Given the description of an element on the screen output the (x, y) to click on. 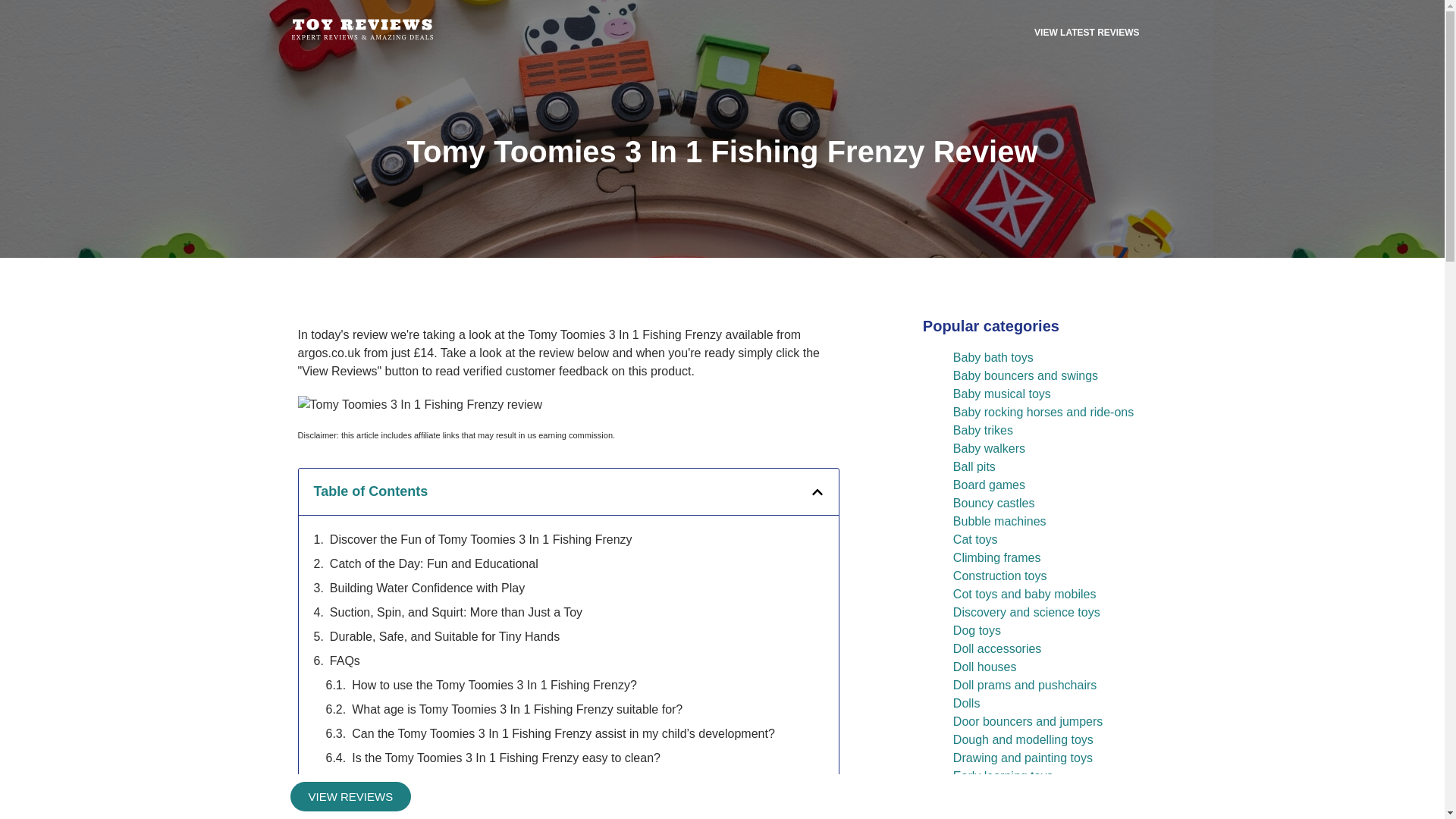
Catch of the Day: Fun and Educational (434, 564)
Other reviews you may be interested in (457, 806)
Ball pits (974, 466)
Where can I buy the Tomy Toomies 3 In 1 Fishing Frenzy? (507, 782)
Discover the Fun of Tomy Toomies 3 In 1 Fishing Frenzy (480, 539)
Baby bouncers and swings (1025, 375)
Baby rocking horses and ride-ons (1043, 411)
How to use the Tomy Toomies 3 In 1 Fishing Frenzy? (494, 685)
Baby trikes (983, 430)
Baby walkers (989, 448)
Durable, Safe, and Suitable for Tiny Hands (444, 637)
Suction, Spin, and Squirt: More than Just a Toy (456, 612)
Is the Tomy Toomies 3 In 1 Fishing Frenzy easy to clean? (506, 758)
Building Water Confidence with Play (427, 588)
What age is Tomy Toomies 3 In 1 Fishing Frenzy suitable for? (517, 710)
